Given the description of an element on the screen output the (x, y) to click on. 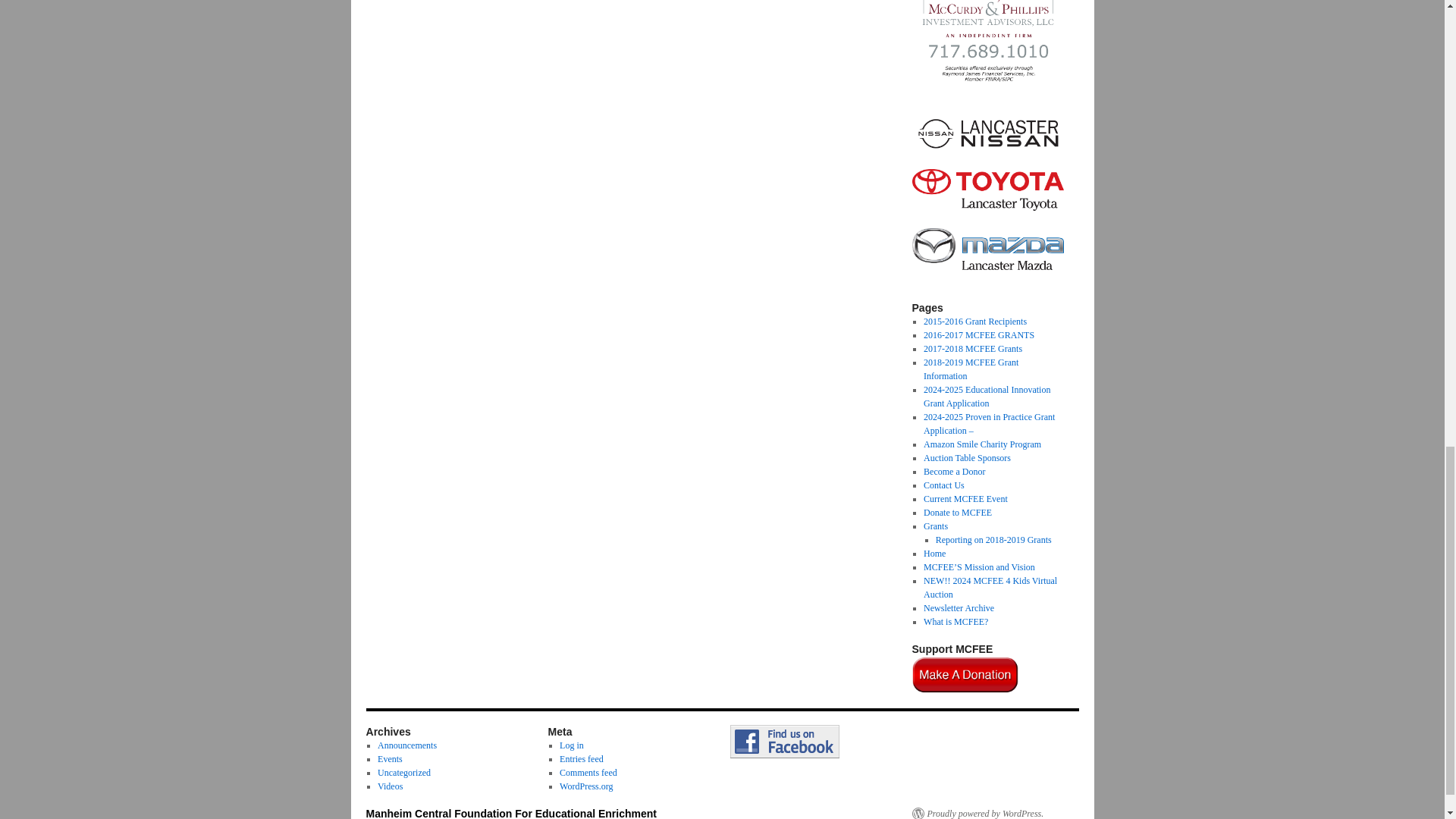
2015-2016 Grant Recipients (974, 321)
2018-2019 MCFEE Grant Information (970, 369)
2017-2018 MCFEE Grants (972, 348)
2016-2017 MCFEE GRANTS (978, 335)
2024-2025 Educational Innovation Grant Application (986, 396)
